Given the description of an element on the screen output the (x, y) to click on. 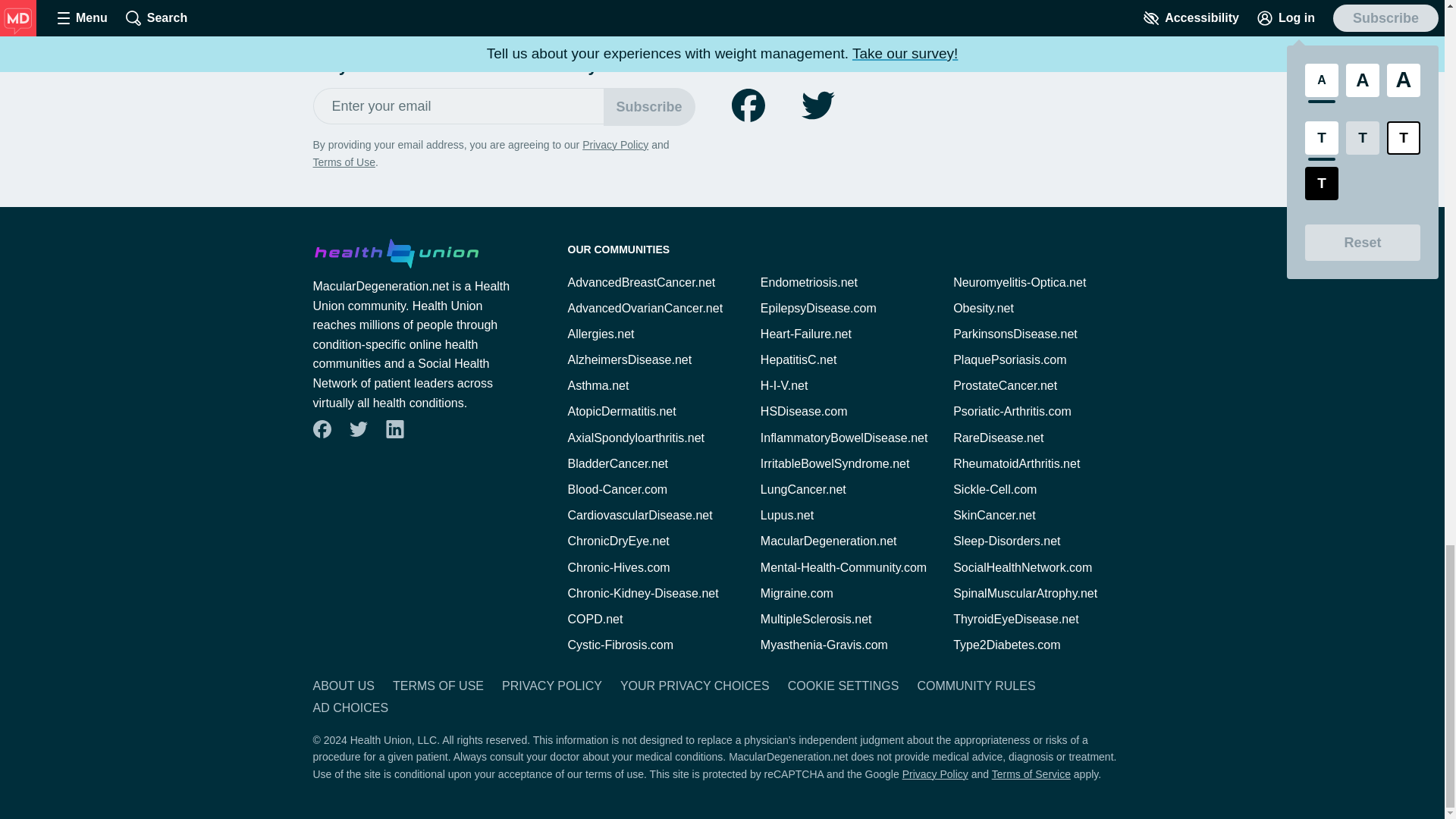
Follow us on twitter (817, 105)
Follow us on facebook (321, 429)
Follow us on facebook (747, 105)
Follow us on twitter (357, 429)
